Given the description of an element on the screen output the (x, y) to click on. 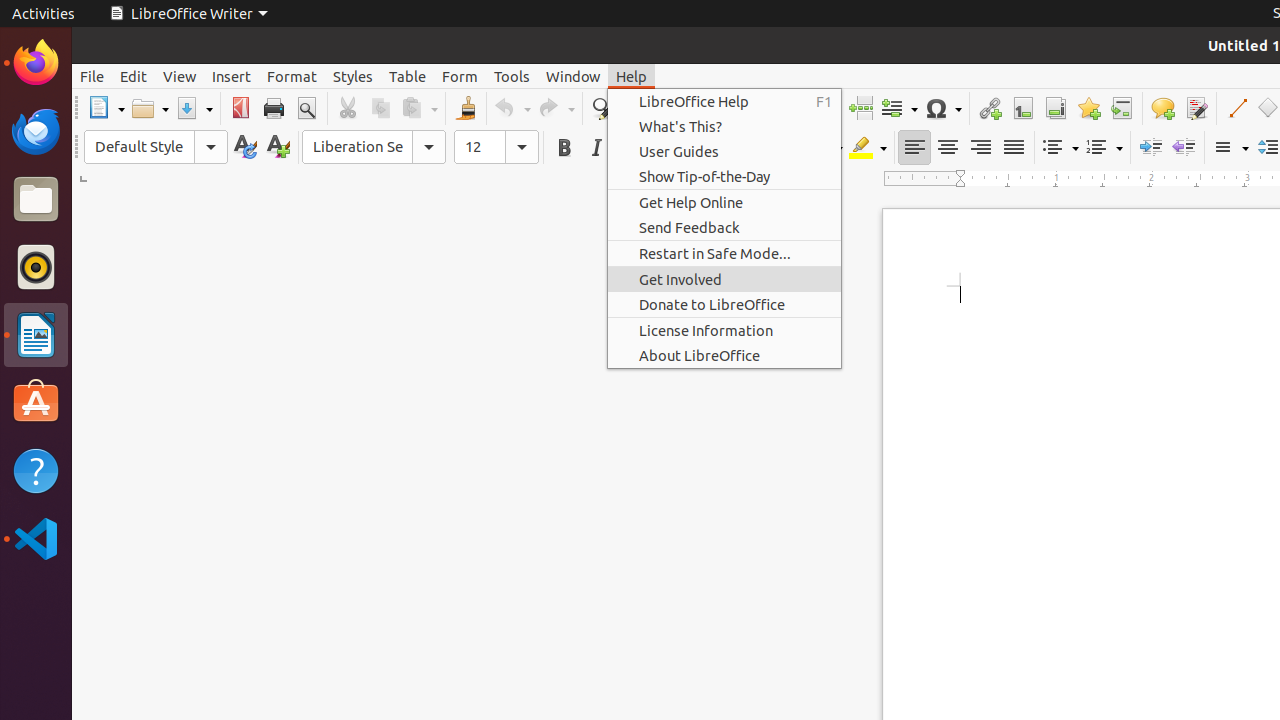
Print Element type: push-button (273, 108)
Font Name Element type: combo-box (374, 147)
Window Element type: menu (573, 76)
Redo Element type: push-button (556, 108)
Format Element type: menu (292, 76)
